Given the description of an element on the screen output the (x, y) to click on. 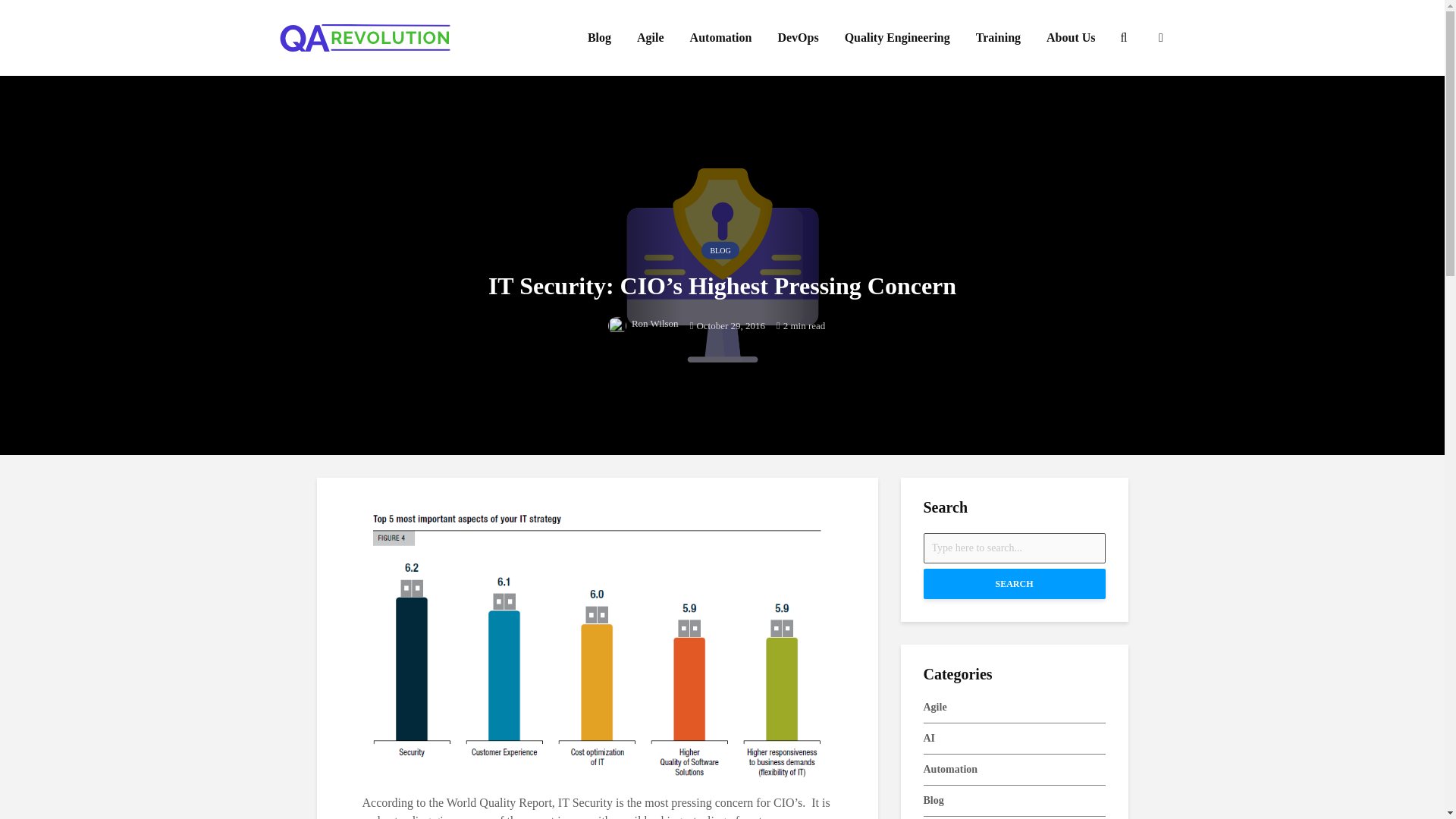
BLOG (719, 250)
Automation (720, 37)
Quality Engineering (896, 37)
DevOps (797, 37)
Ron Wilson (643, 322)
Training (997, 37)
Agile (650, 37)
Blog (599, 37)
About Us (1070, 37)
